Given the description of an element on the screen output the (x, y) to click on. 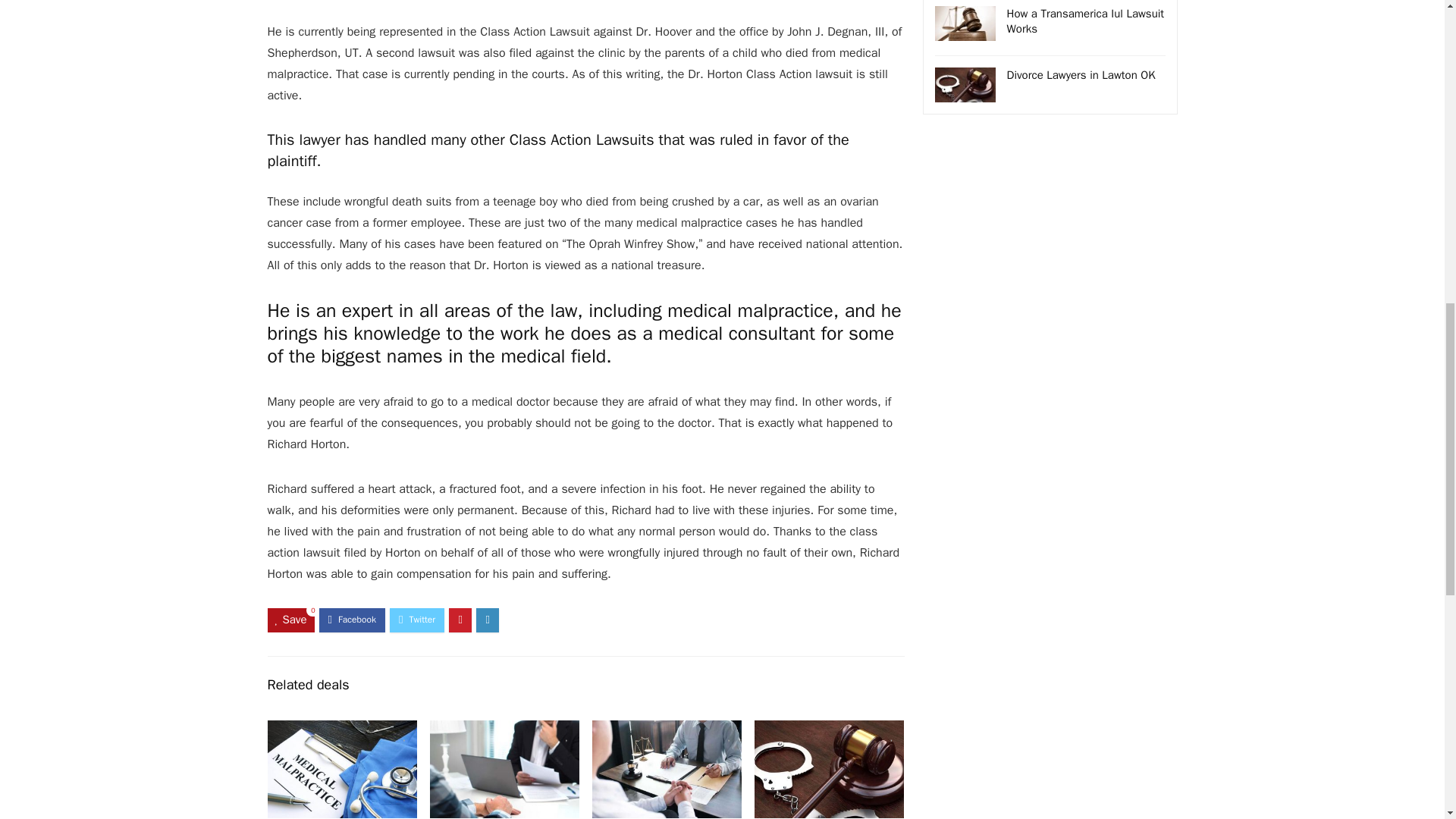
How a Transamerica Iul Lawsuit Works (1085, 21)
